Given the description of an element on the screen output the (x, y) to click on. 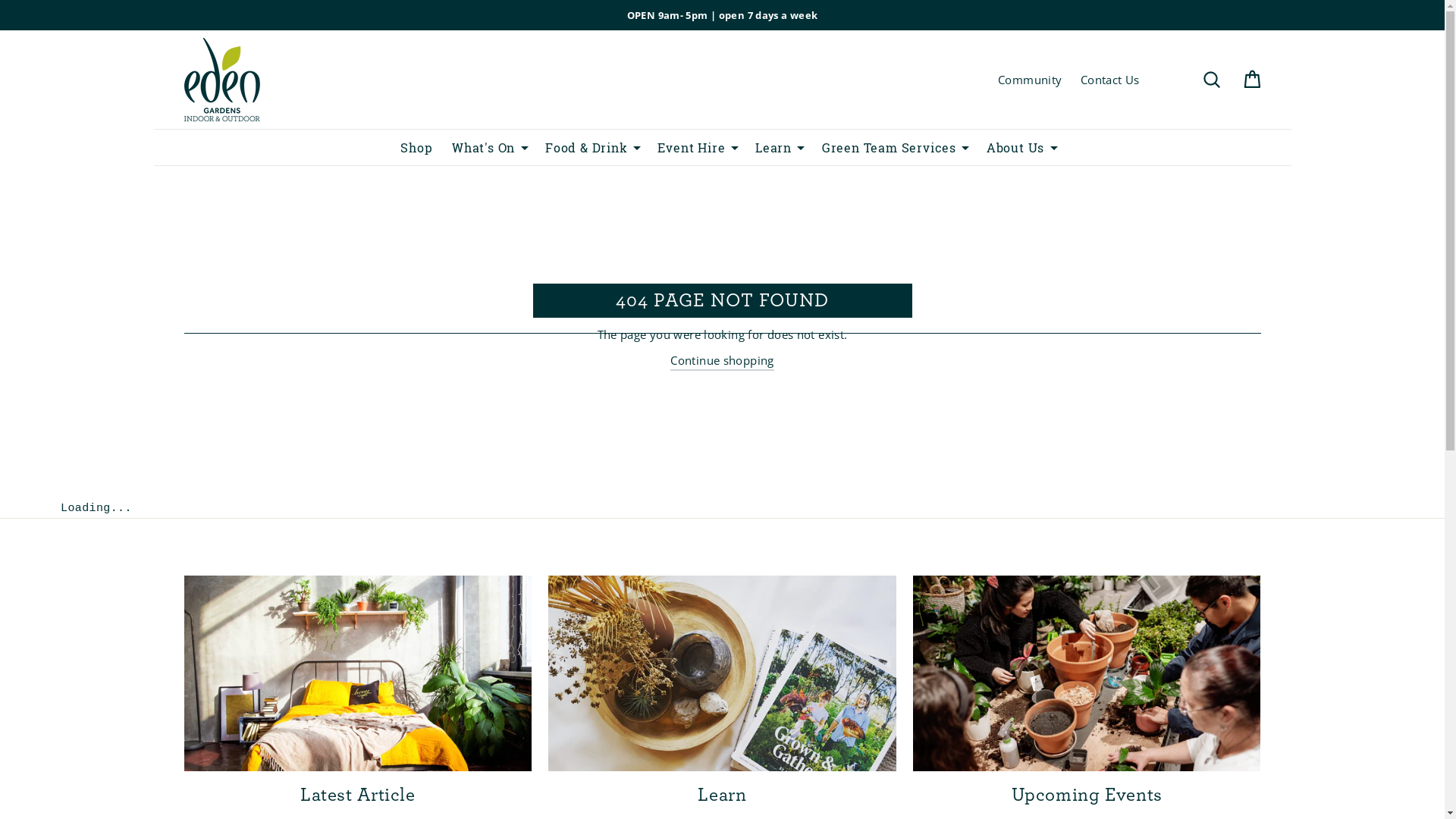
Event Hire Element type: text (685, 147)
About Us Element type: text (1009, 147)
Cart Element type: text (1251, 79)
Search Element type: text (1211, 79)
Continue shopping Element type: text (721, 360)
Shop Element type: text (410, 147)
Community Element type: text (1029, 79)
Skip to content Element type: text (0, 0)
Contact Us Element type: text (1110, 79)
What's On Element type: text (477, 147)
Learn Element type: text (767, 147)
Green Team Services Element type: text (883, 147)
Food & Drink Element type: text (580, 147)
